Given the description of an element on the screen output the (x, y) to click on. 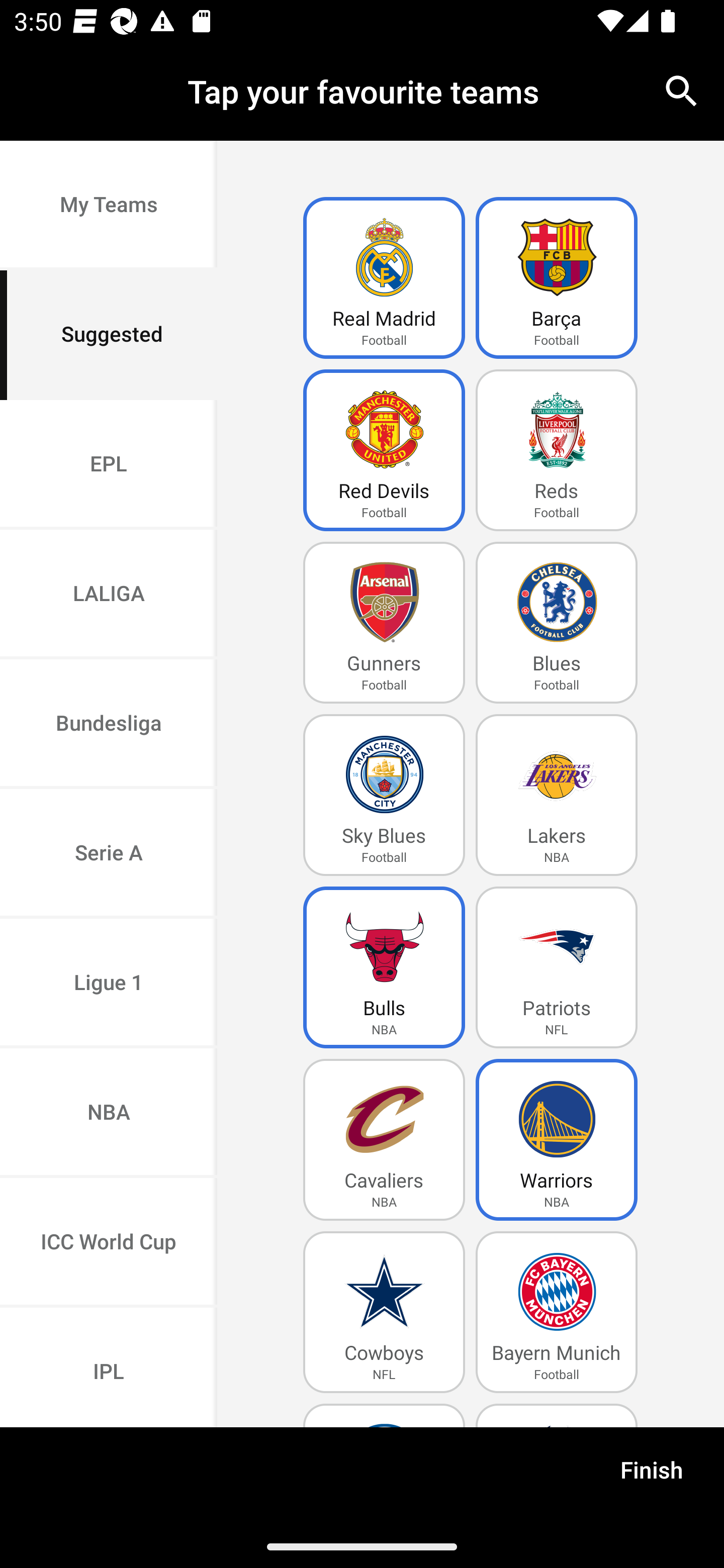
search (681, 90)
My Teams (108, 206)
Real Madrid Real MadridSelected Football (383, 278)
Barça BarçaSelected Football (556, 278)
Suggested (108, 334)
Red Devils Red DevilsSelected Football (383, 450)
Reds Reds Football (556, 450)
EPL (108, 464)
LALIGA (108, 594)
Gunners Gunners Football (383, 623)
Blues Blues Football (556, 623)
Bundesliga (108, 725)
Sky Blues Sky Blues Football (383, 794)
Lakers Lakers NBA (556, 794)
Serie A (108, 853)
Bulls BullsSelected NBA (383, 966)
Patriots Patriots NFL (556, 966)
Ligue 1 (108, 983)
NBA (108, 1113)
Cavaliers Cavaliers NBA (383, 1139)
Warriors WarriorsSelected NBA (556, 1139)
ICC World Cup (108, 1242)
Cowboys Cowboys NFL (383, 1311)
Bayern Munich Bayern Munich Football (556, 1311)
IPL (108, 1366)
Finish Finish and Close (651, 1475)
